Given the description of an element on the screen output the (x, y) to click on. 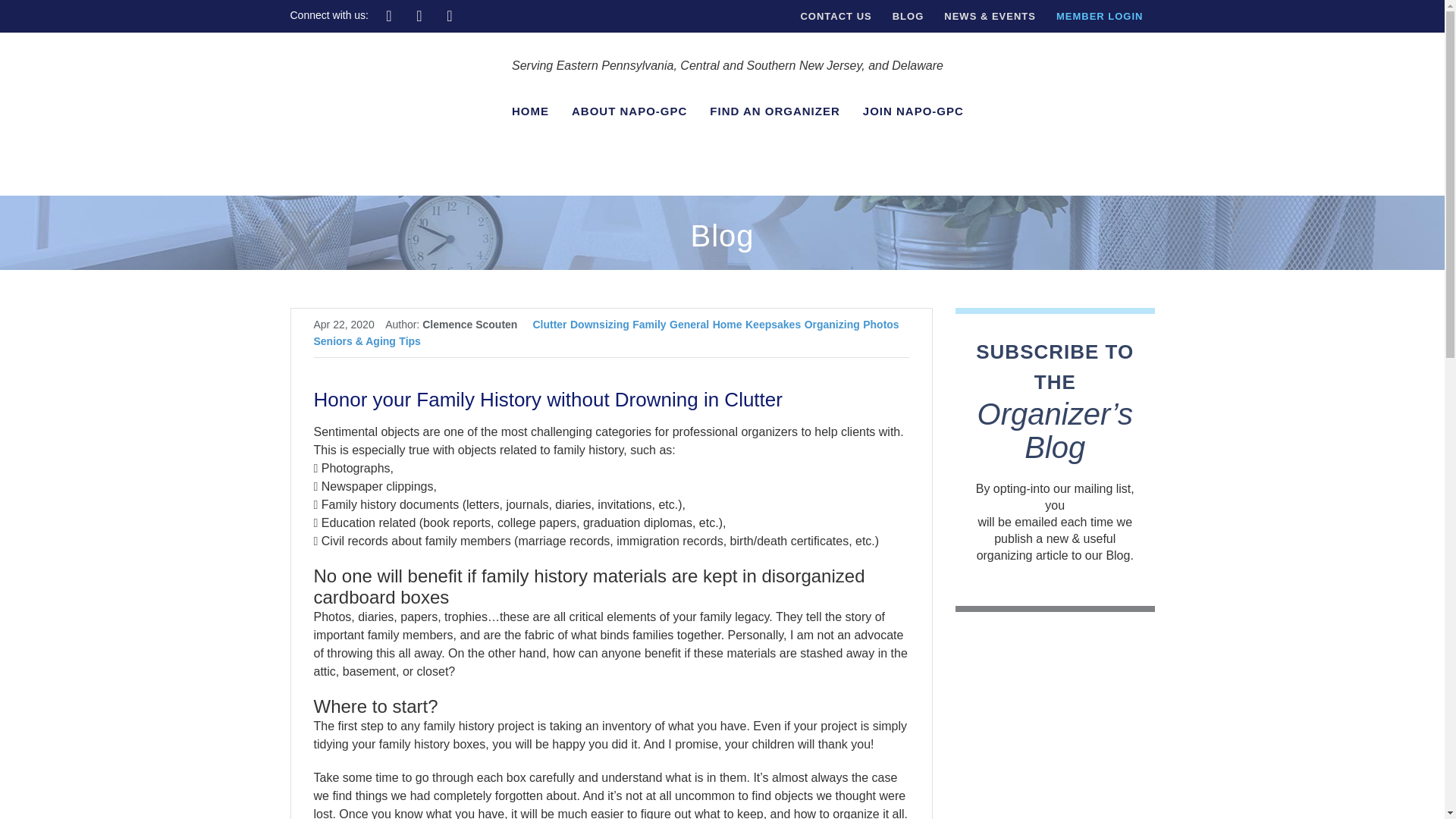
HOME (530, 111)
Downsizing (599, 324)
CONTACT US (834, 16)
Clutter (549, 324)
JOIN NAPO-GPC (913, 111)
MEMBER LOGIN (1099, 16)
ABOUT NAPO-GPC (629, 111)
FIND AN ORGANIZER (775, 111)
BLOG (908, 16)
